Given the description of an element on the screen output the (x, y) to click on. 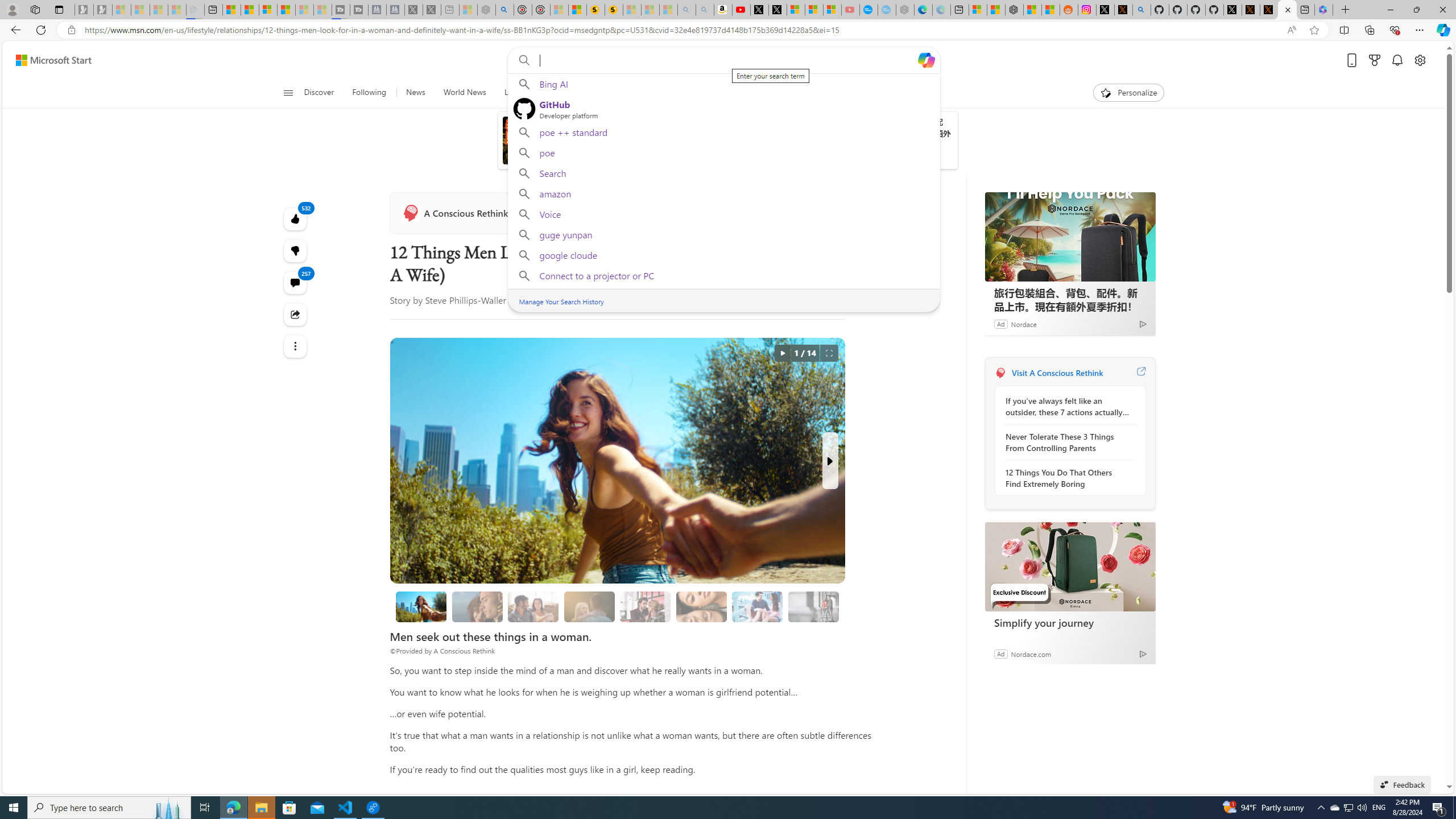
poe ++ standard (723, 132)
anim-content (793, 144)
Local (512, 92)
3. People flirt with you and want your company. (756, 606)
google cloude (723, 254)
3. She is appreciative. (588, 606)
